Given the description of an element on the screen output the (x, y) to click on. 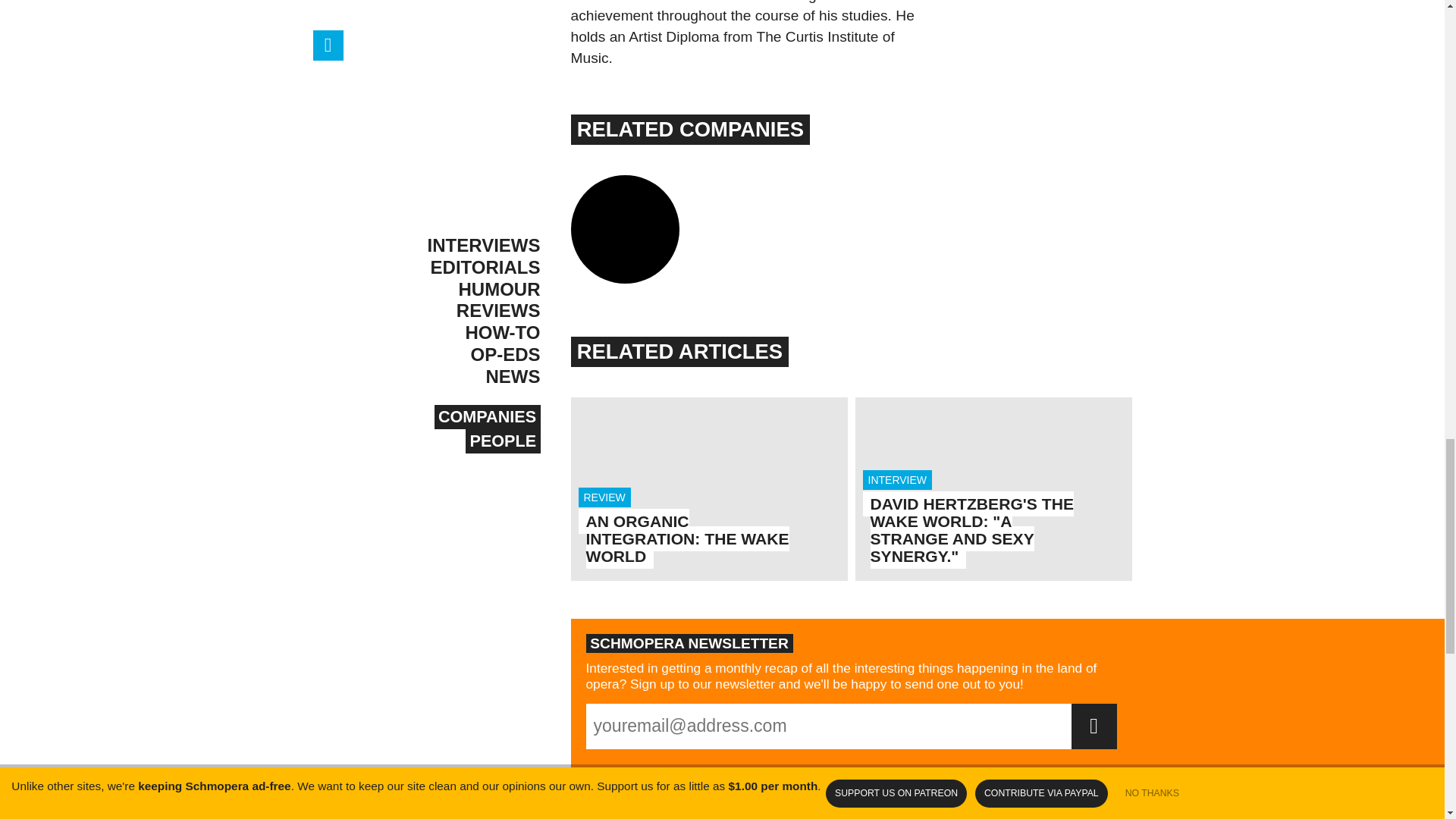
Back to home page (708, 488)
An organic integration: The Wake World (445, 810)
